Given the description of an element on the screen output the (x, y) to click on. 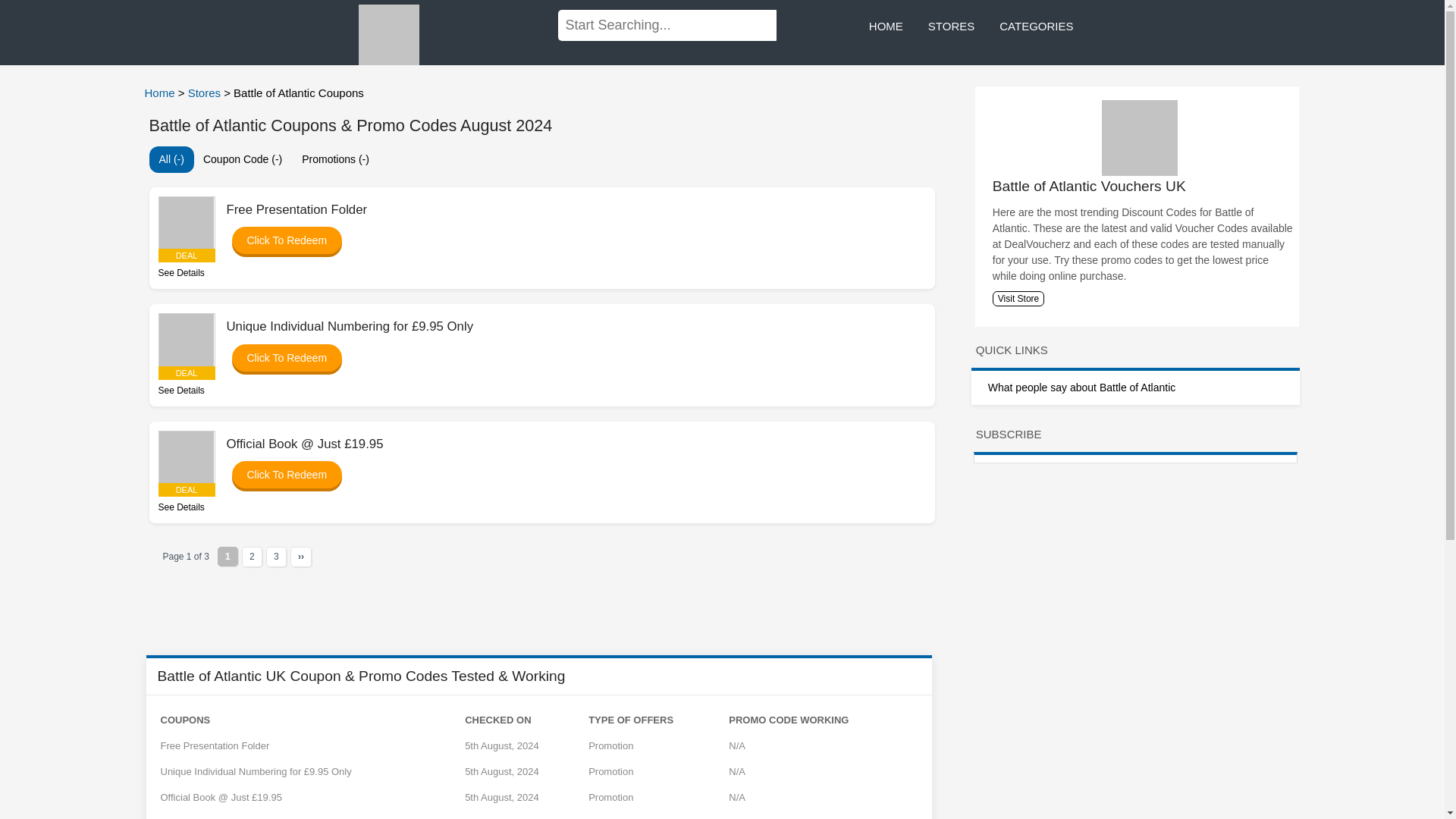
Click To Redeem (279, 239)
Click To Redeem (279, 357)
Home (160, 92)
Stores (205, 92)
CATEGORIES (1035, 27)
HOME (885, 27)
STORES (951, 27)
